Given the description of an element on the screen output the (x, y) to click on. 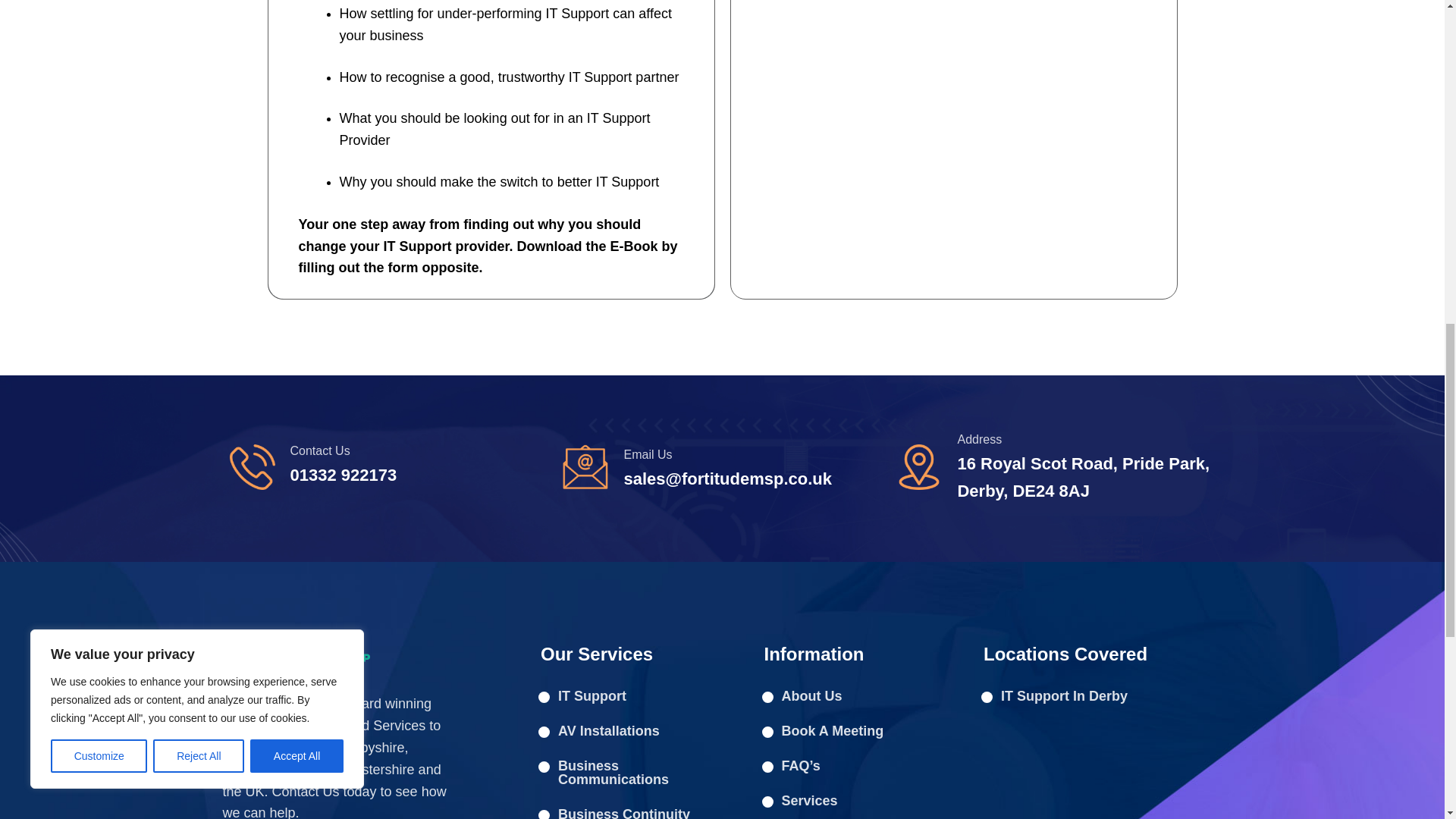
IT Support (629, 695)
Business Communications (629, 772)
01332 922173 (342, 474)
Business Continuity (629, 807)
AV Installations (629, 730)
